Given the description of an element on the screen output the (x, y) to click on. 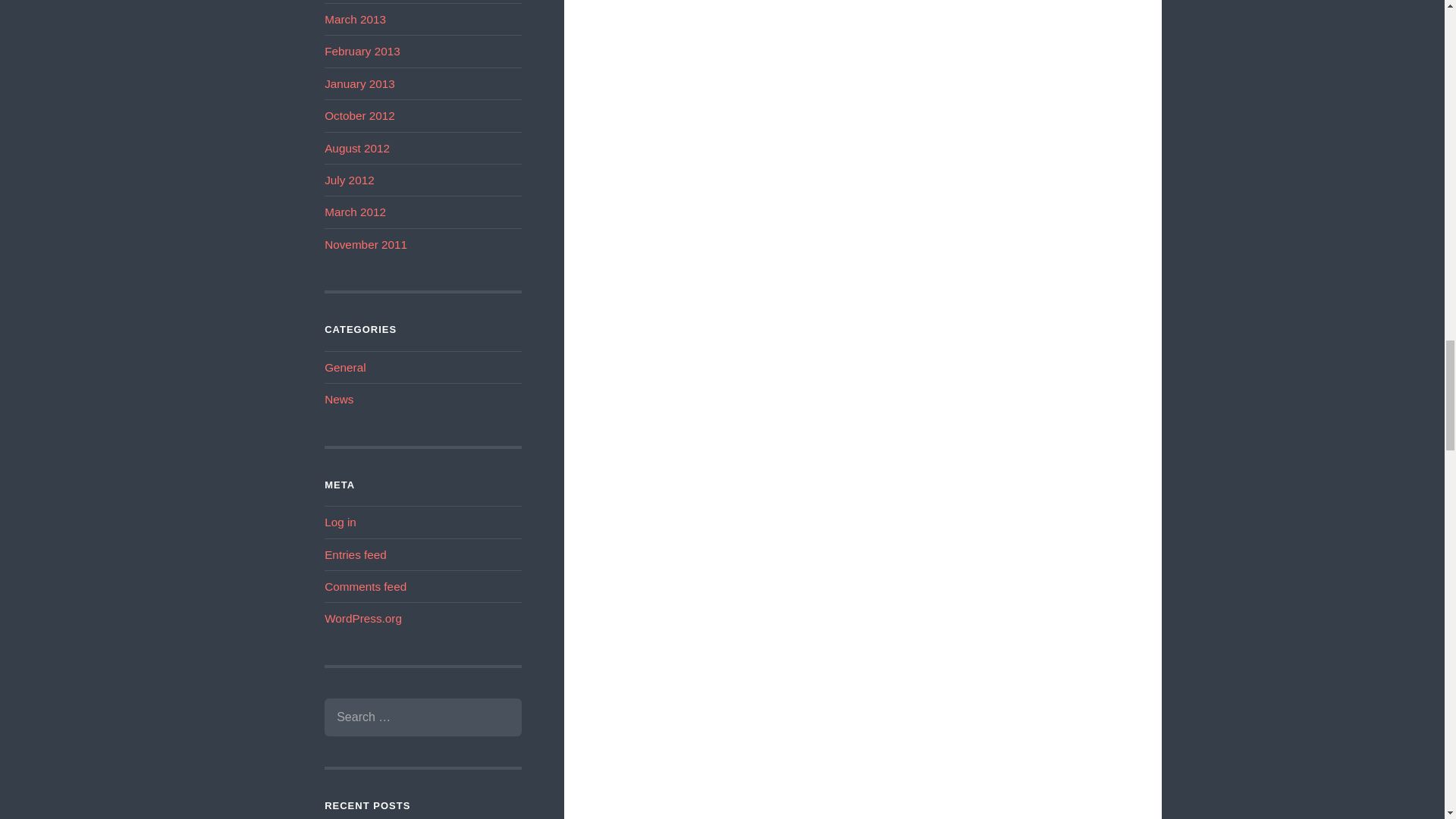
Search (498, 717)
Search (498, 717)
